Given the description of an element on the screen output the (x, y) to click on. 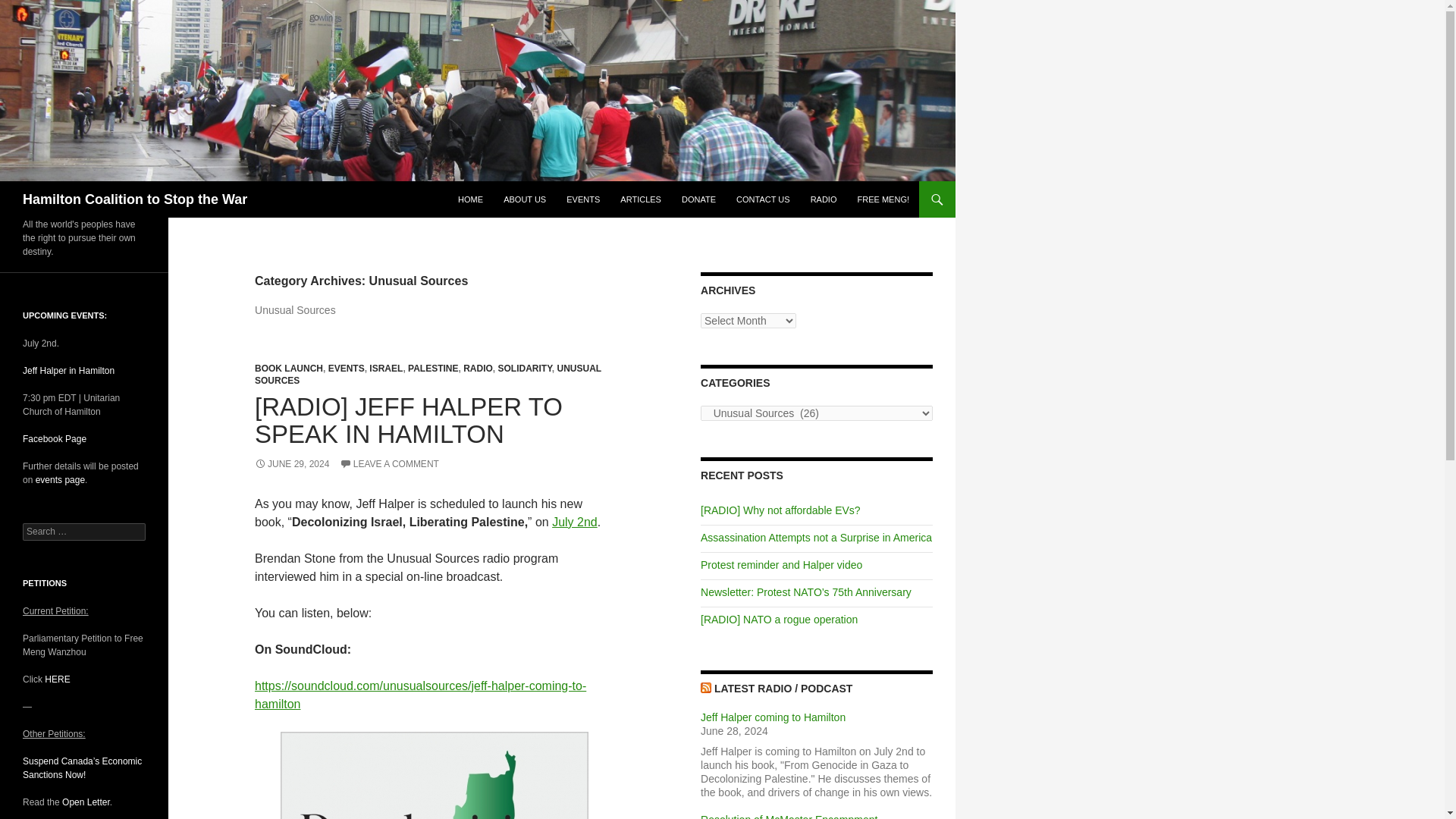
Protest reminder and Halper video (780, 564)
Hamilton Coalition to Stop the War (135, 198)
LEAVE A COMMENT (389, 463)
RADIO (478, 368)
JUNE 29, 2024 (291, 463)
Assassination Attempts not a Surprise in America (815, 537)
July 2nd (573, 521)
ISRAEL (386, 368)
HOME (470, 198)
EVENTS (582, 198)
BOOK LAUNCH (288, 368)
SOLIDARITY (524, 368)
ABOUT US (524, 198)
EVENTS (347, 368)
